Given the description of an element on the screen output the (x, y) to click on. 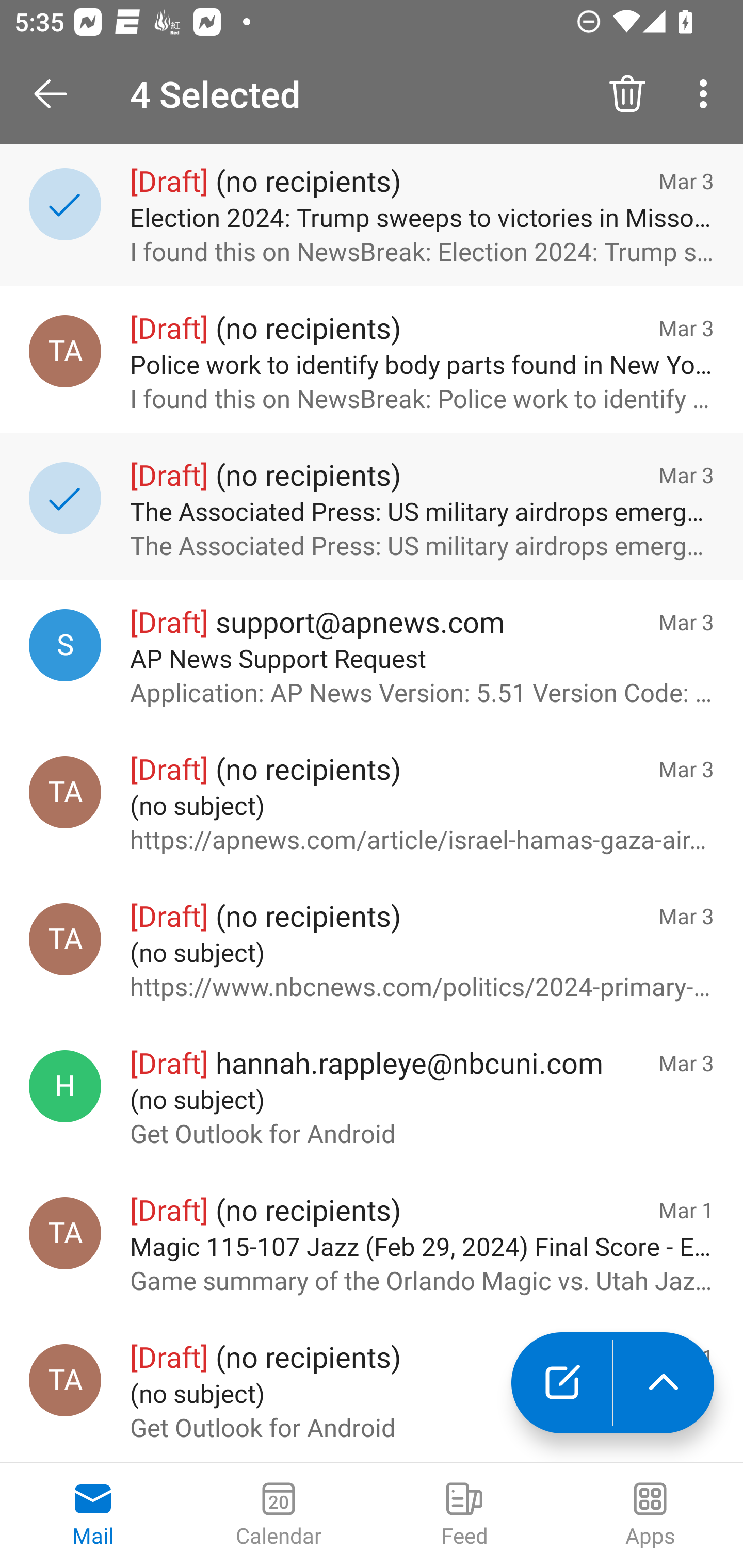
Delete (626, 93)
More options (706, 93)
Open Navigation Drawer (57, 94)
Test Appium, testappium002@outlook.com (64, 351)
support@apnews.com (64, 645)
Test Appium, testappium002@outlook.com (64, 791)
Test Appium, testappium002@outlook.com (64, 939)
hannah.rappleye@nbcuni.com (64, 1086)
Test Appium, testappium002@outlook.com (64, 1233)
New mail (561, 1382)
launch the extended action menu (663, 1382)
Test Appium, testappium002@outlook.com (64, 1379)
Calendar (278, 1515)
Feed (464, 1515)
Apps (650, 1515)
